Given the description of an element on the screen output the (x, y) to click on. 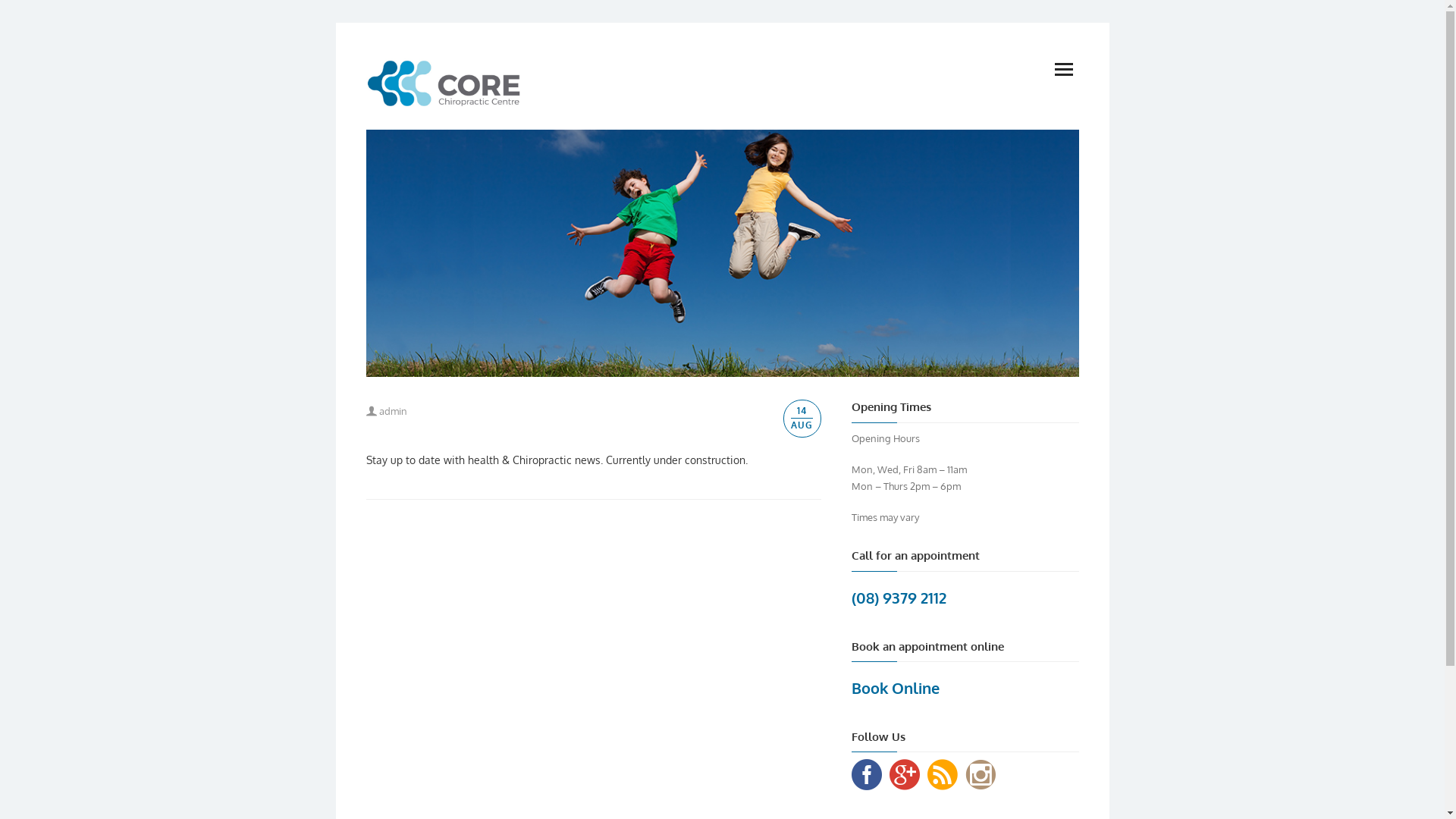
(08) 9379 2112 Element type: text (897, 597)
Book Online Element type: text (894, 687)
admin Element type: text (385, 410)
Skip to content Element type: text (365, 53)
Core Chiropractic Element type: hover (442, 81)
Core Chiropractic Element type: hover (721, 252)
